Given the description of an element on the screen output the (x, y) to click on. 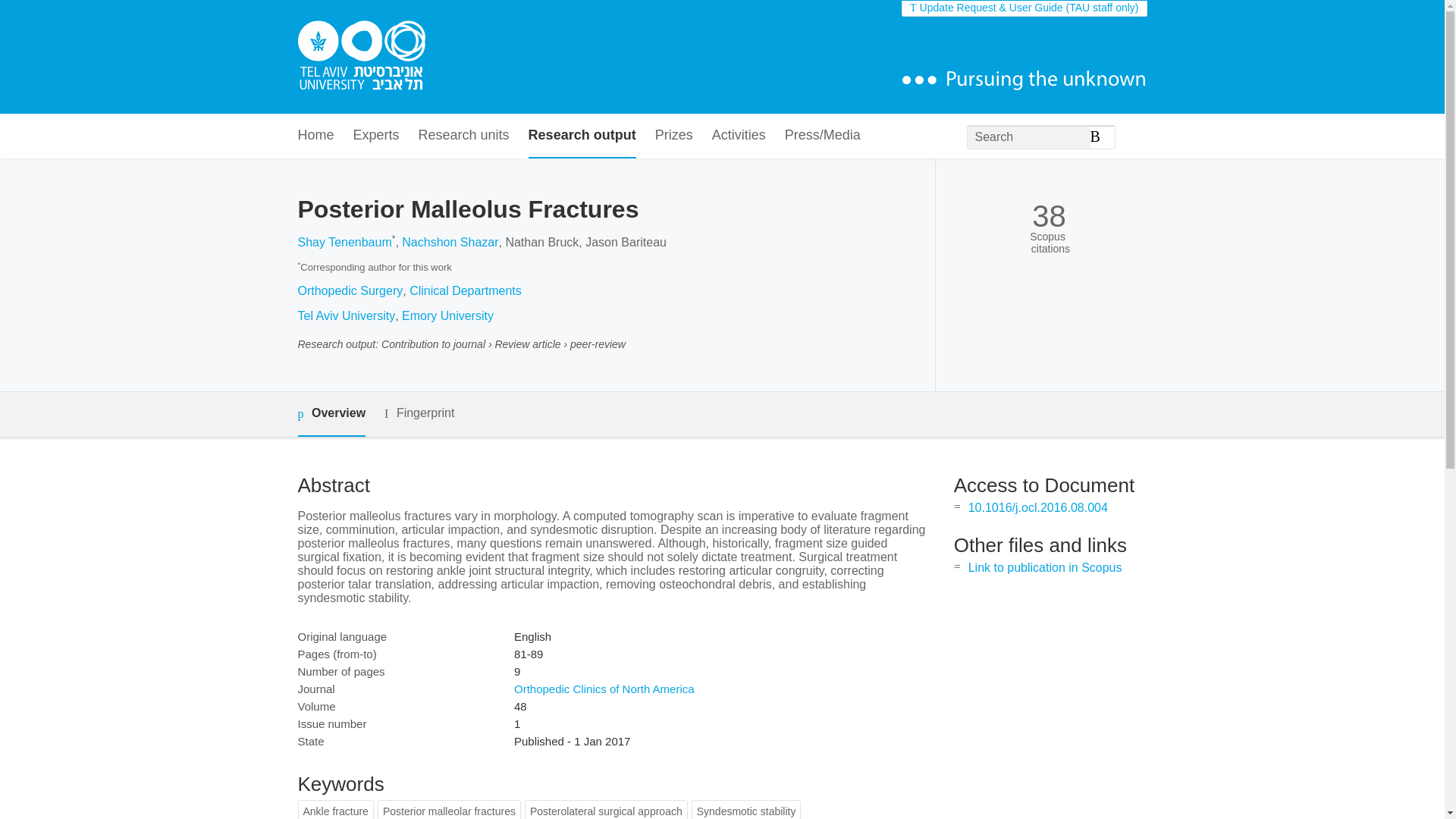
Shay Tenenbaum (344, 241)
Research units (464, 135)
Orthopedic Surgery (350, 290)
Link to publication in Scopus (1045, 567)
Activities (738, 135)
Tel Aviv University (345, 315)
Fingerprint (419, 413)
Overview (331, 414)
Orthopedic Clinics of North America (603, 688)
